Given the description of an element on the screen output the (x, y) to click on. 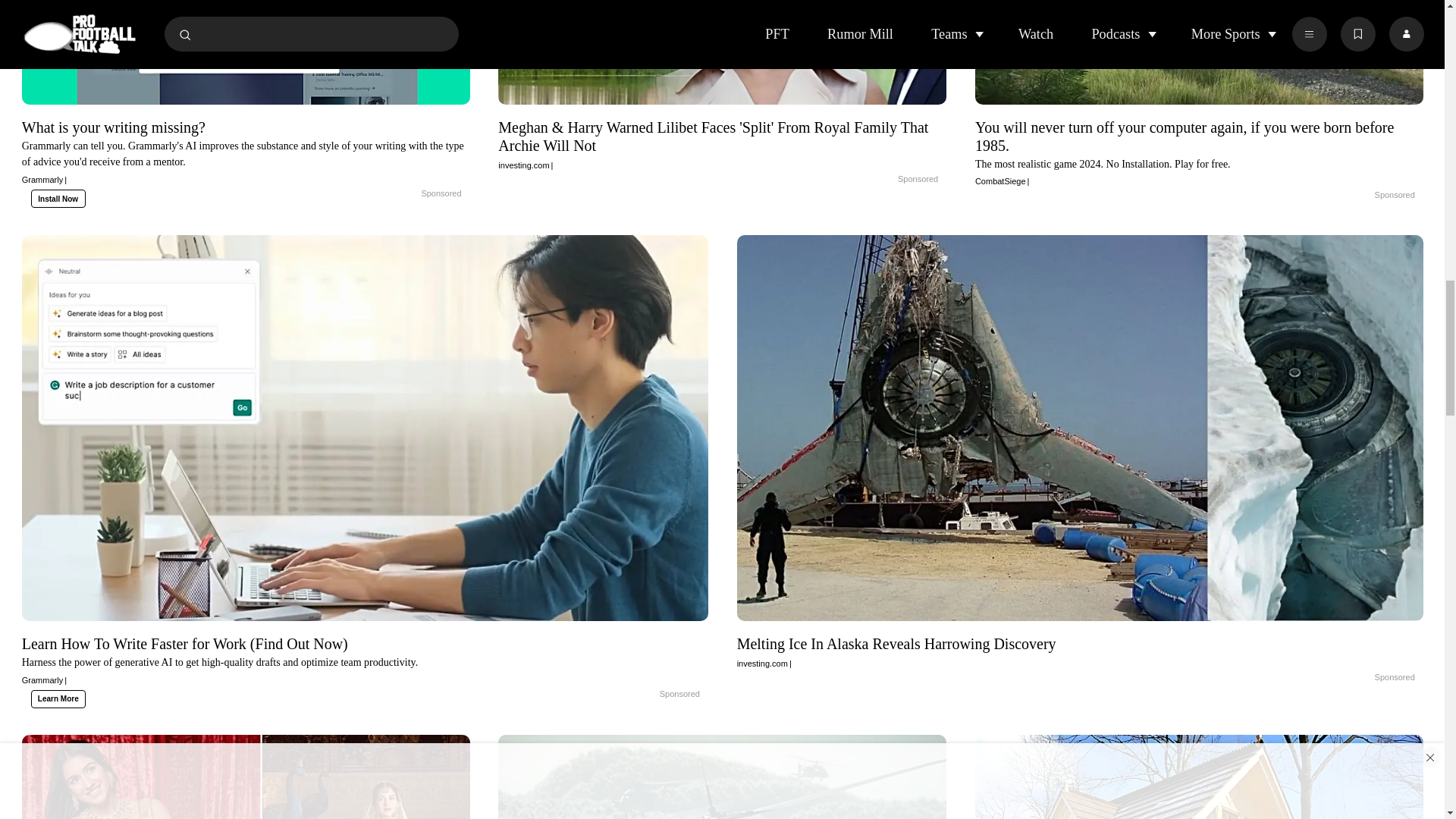
What is your writing missing? (404, 194)
What is your writing missing? (245, 151)
Melting Ice In Alaska Reveals Harrowing Discovery (1079, 650)
Melting Ice In Alaska Reveals Harrowing Discovery (1359, 677)
